Given the description of an element on the screen output the (x, y) to click on. 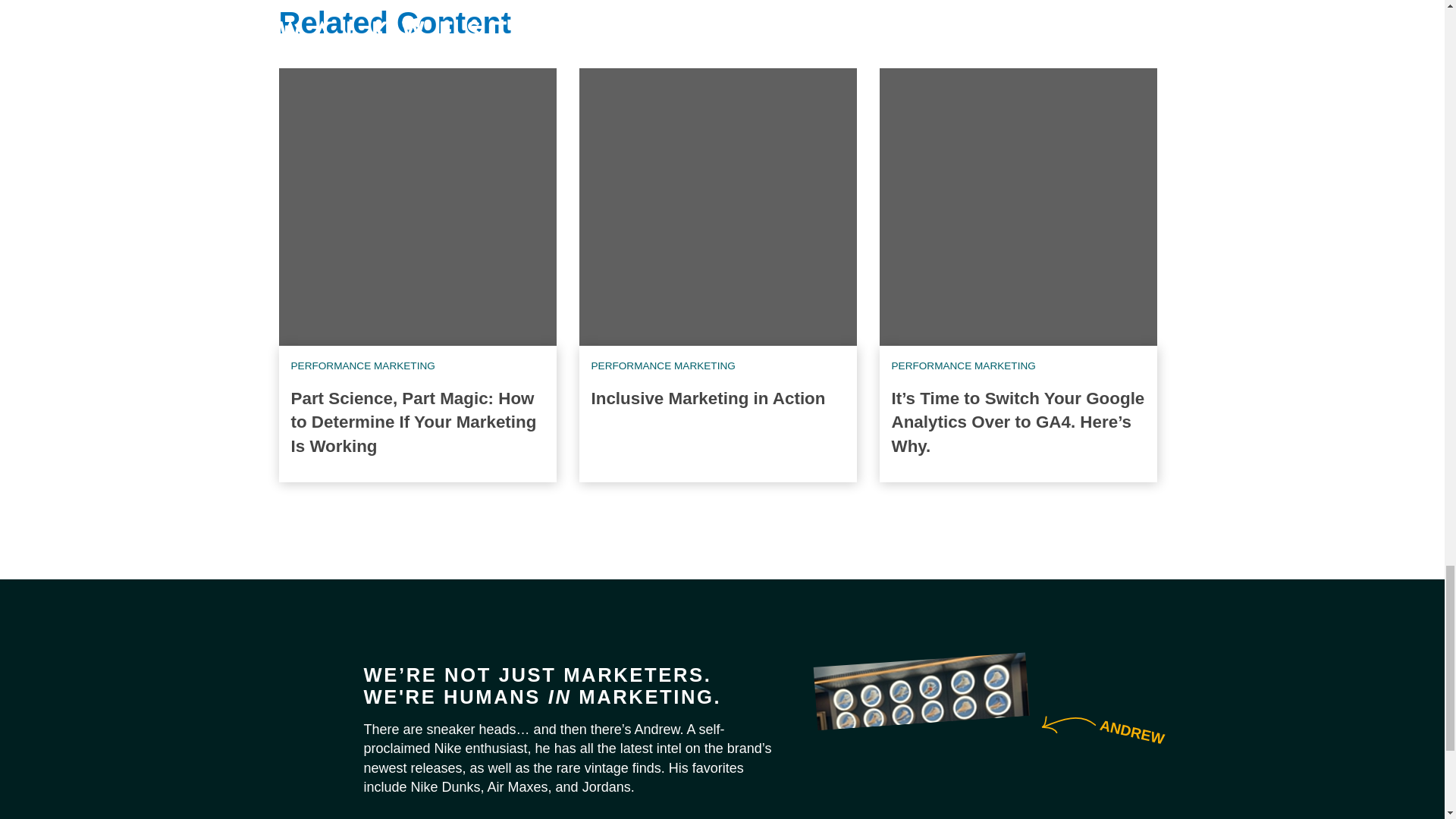
Inclusive Marketing in Action (708, 398)
Arrow pointing to employee photo (1067, 722)
